Given the description of an element on the screen output the (x, y) to click on. 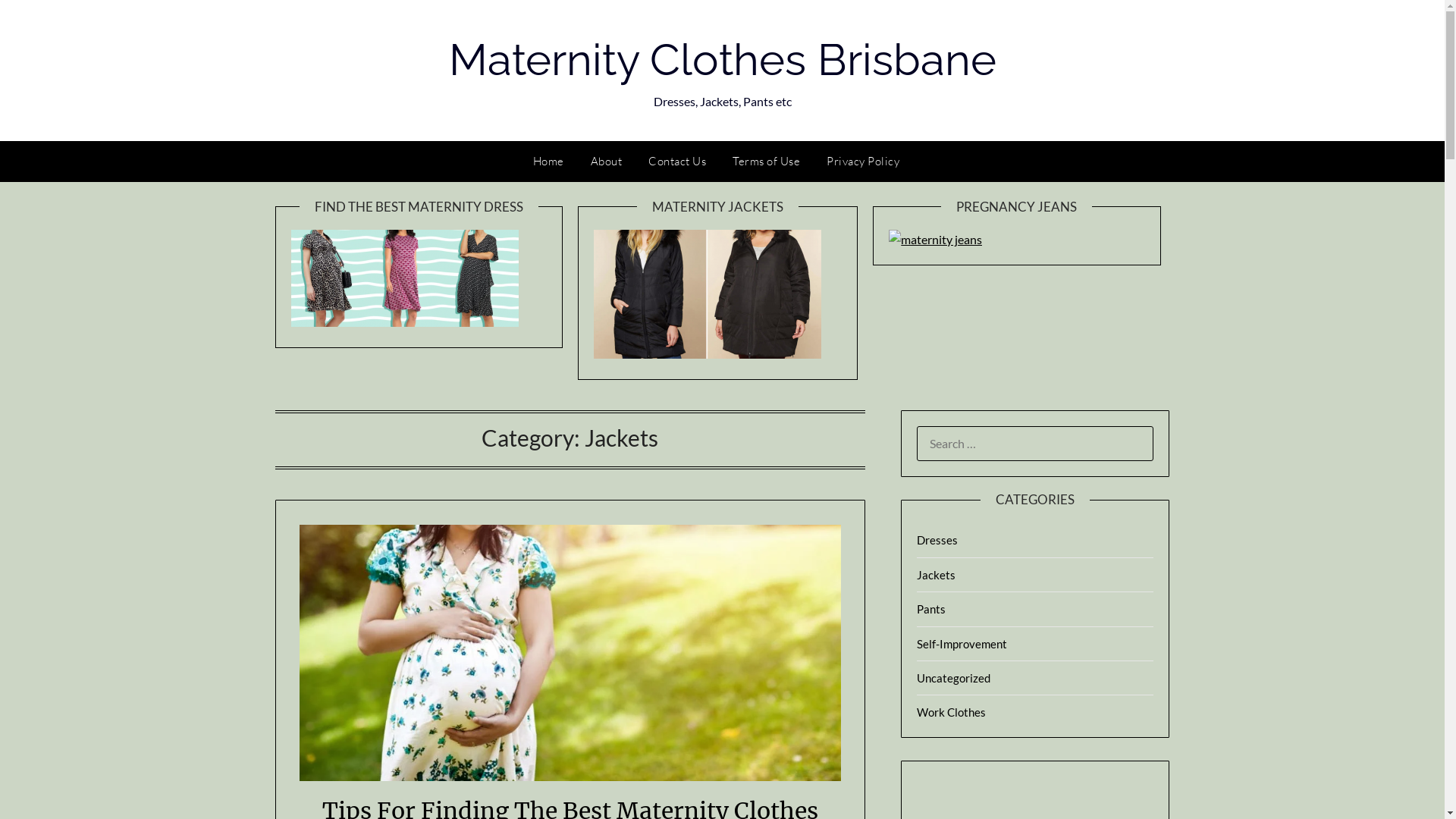
Contact Us Element type: text (677, 161)
Search Element type: text (37, 21)
Terms of Use Element type: text (766, 161)
Work Clothes Element type: text (950, 711)
Pants Element type: text (930, 608)
Dresses Element type: text (936, 539)
Maternity Clothes Brisbane Element type: text (722, 59)
About Element type: text (606, 161)
Home Element type: text (554, 161)
Self-Improvement Element type: text (961, 643)
Uncategorized Element type: text (953, 677)
Jackets Element type: text (935, 574)
Privacy Policy Element type: text (862, 161)
